Given the description of an element on the screen output the (x, y) to click on. 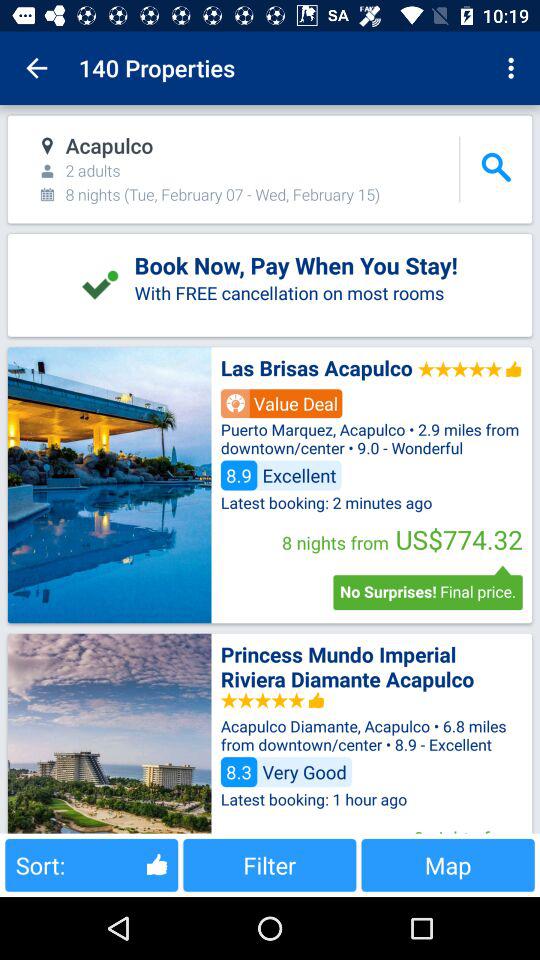
launch the icon next to the sort:  item (269, 864)
